Given the description of an element on the screen output the (x, y) to click on. 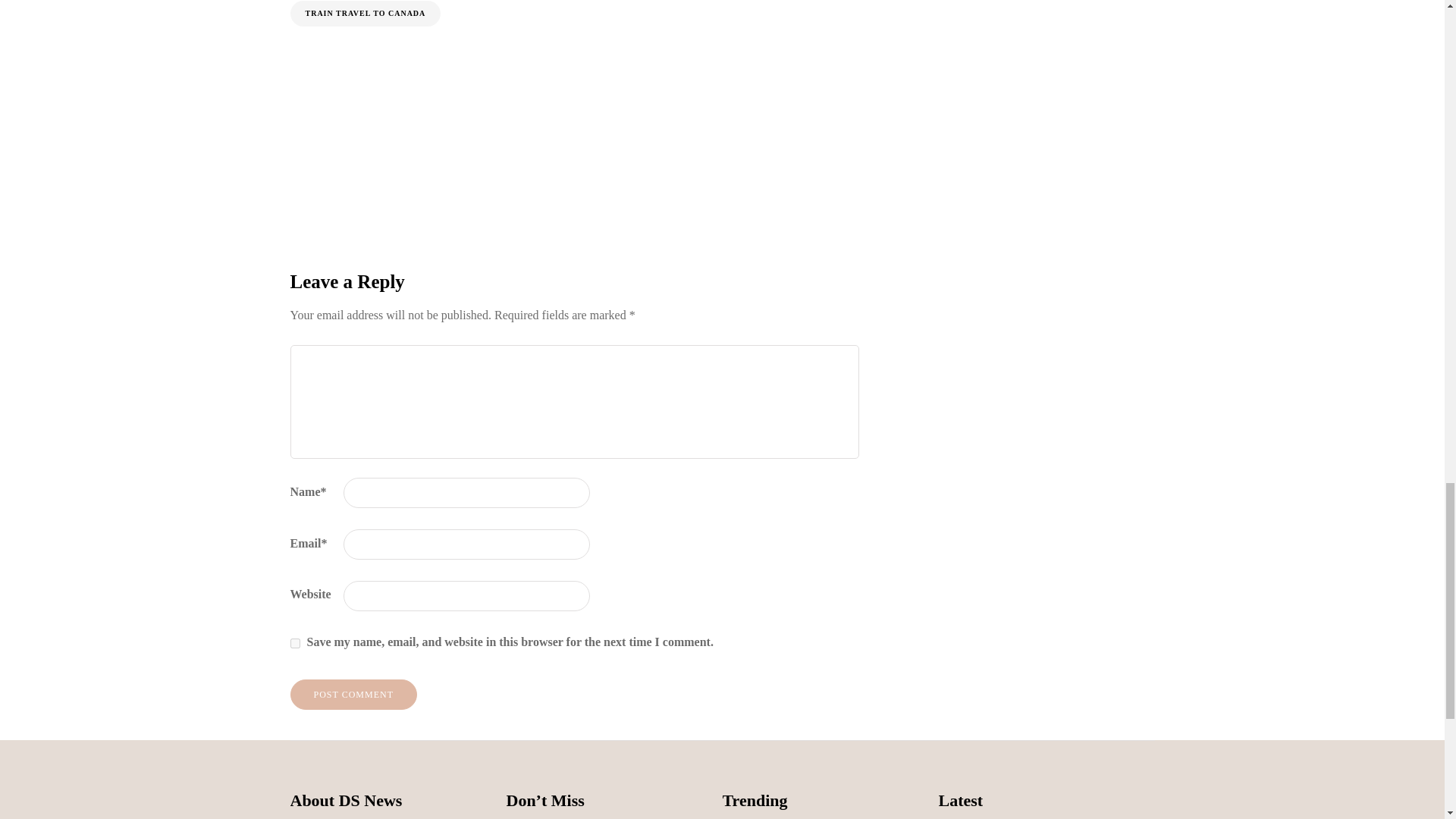
Post comment (352, 694)
yes (294, 643)
